Given the description of an element on the screen output the (x, y) to click on. 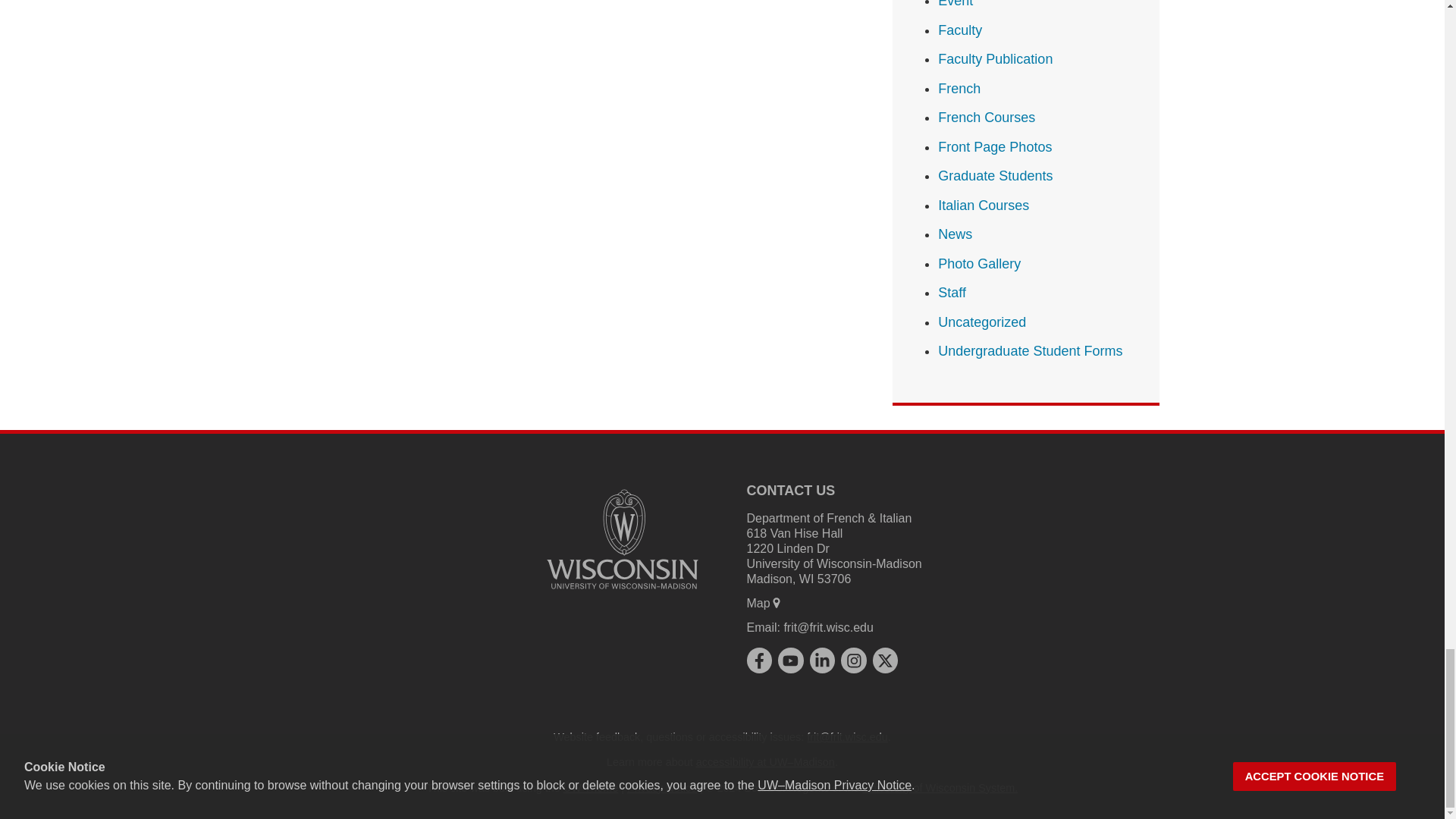
map marker (776, 603)
instagram (853, 660)
linkedin (821, 660)
facebook (759, 660)
youtube (790, 660)
x twitter (884, 660)
University logo that links to main university website (621, 539)
